Given the description of an element on the screen output the (x, y) to click on. 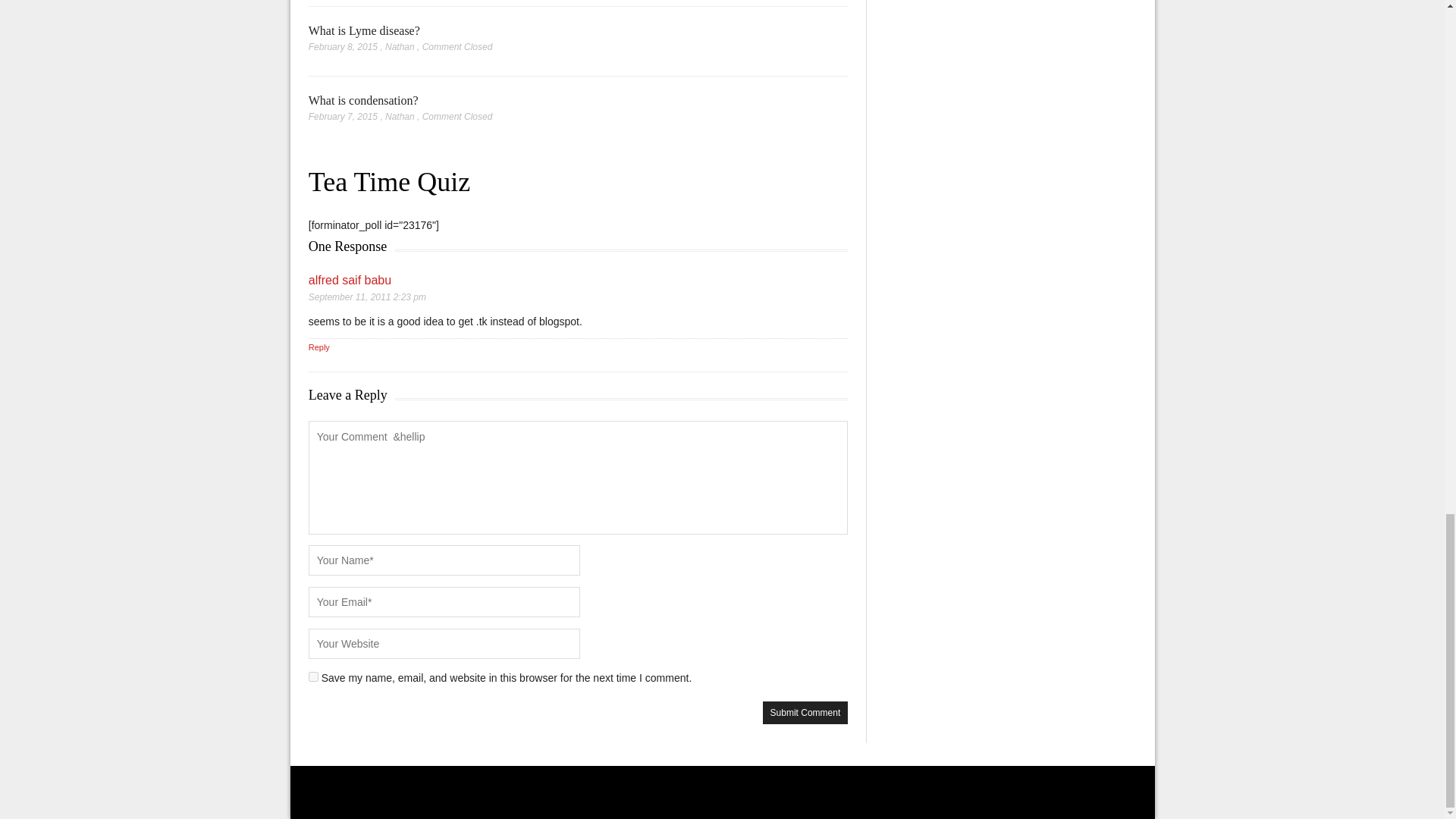
What is Lyme disease? (364, 30)
yes (313, 676)
alfred saif babu (349, 279)
What is condensation? (363, 100)
Posts by Nathan (399, 116)
Posts by Nathan (399, 46)
Reply (319, 347)
What is Lyme disease? (364, 30)
Nathan (399, 46)
Submit Comment (805, 712)
Submit Comment (805, 712)
What is condensation? (363, 100)
Nathan (399, 116)
September 11, 2011 2:23 pm (367, 296)
